Given the description of an element on the screen output the (x, y) to click on. 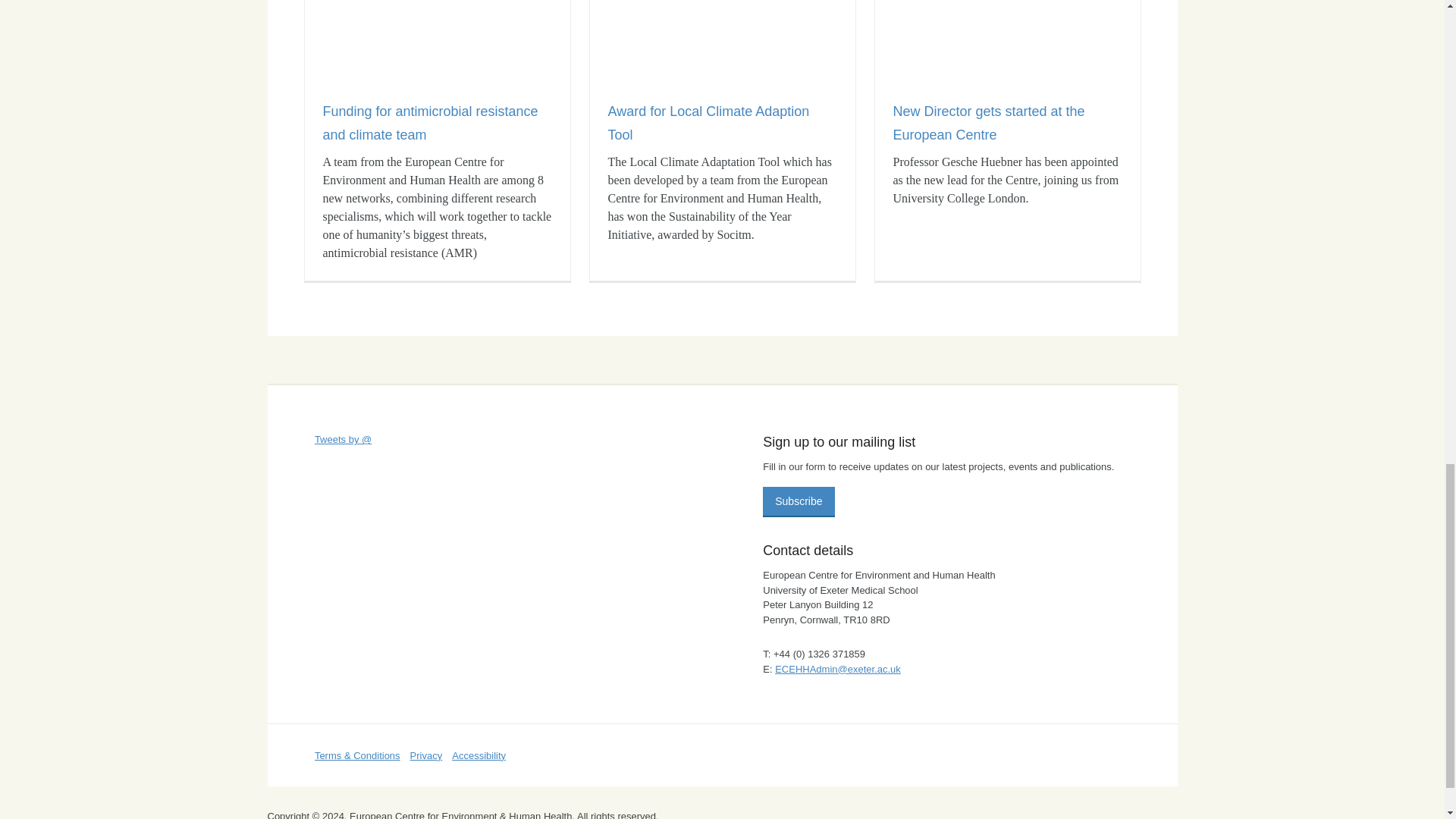
Privacy (426, 755)
Subscribe (798, 501)
Accessibility (478, 755)
